Given the description of an element on the screen output the (x, y) to click on. 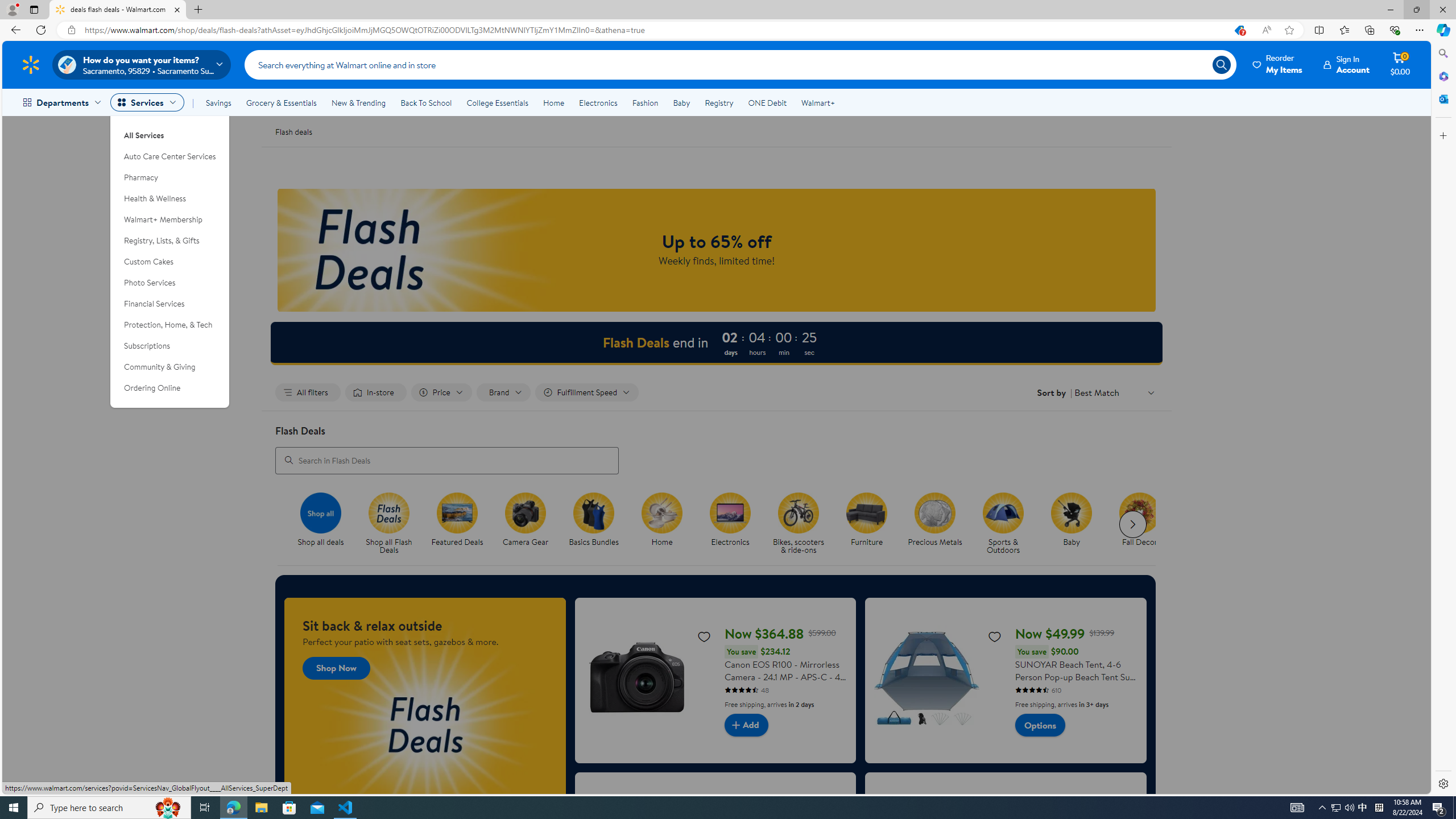
Ordering Online (170, 387)
Class: ld ld-ChevronDown pa0 ml6 (1151, 392)
Back To School (425, 102)
Baby (1075, 524)
Community & Giving (170, 366)
Precious Metals (934, 512)
Savings (217, 102)
Bikes, scooters & ride-ons (802, 524)
Basics Bundles (597, 524)
Filter by Price not applied, activate to change (440, 392)
